Given the description of an element on the screen output the (x, y) to click on. 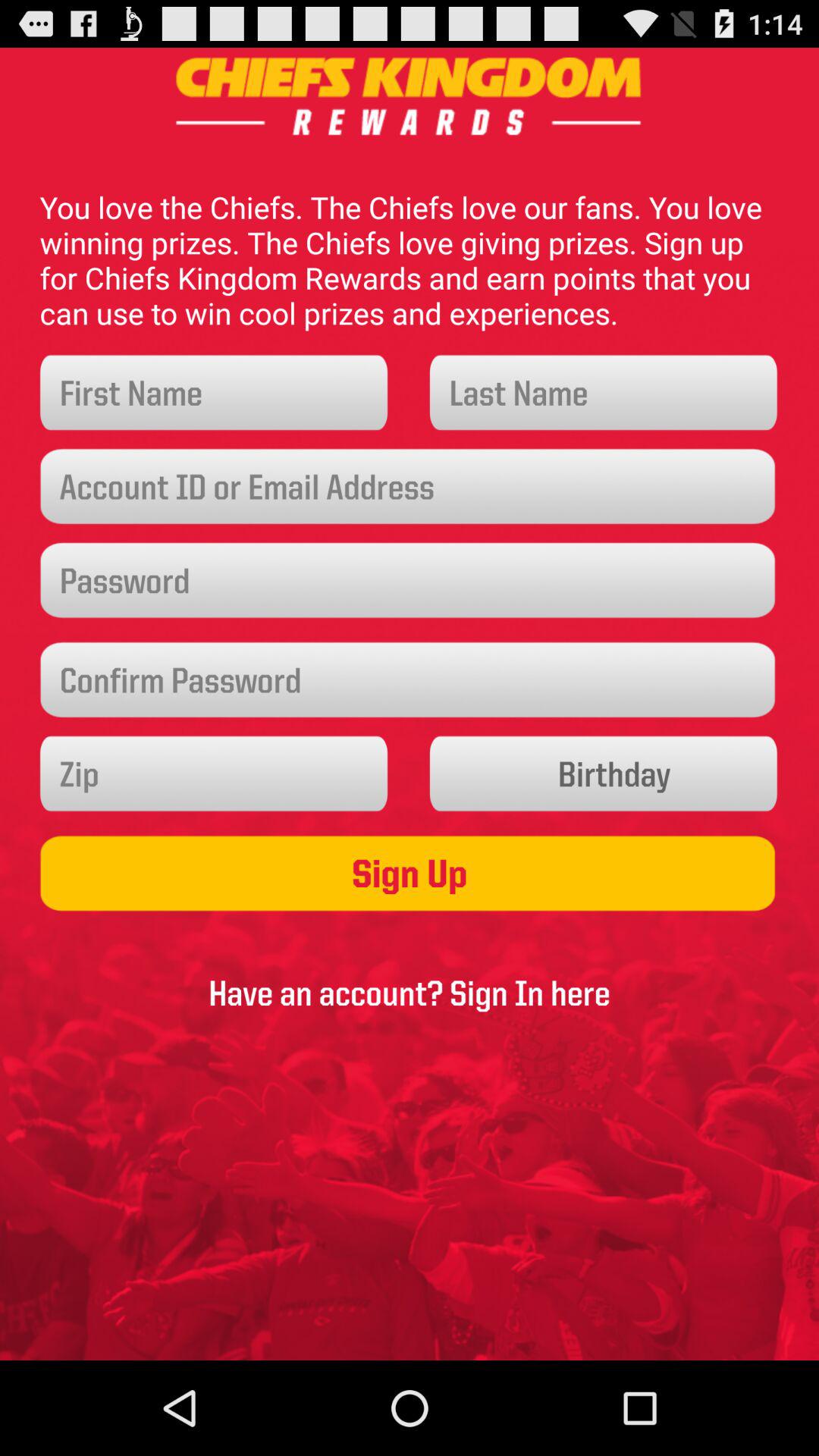
enter zip code (214, 773)
